Given the description of an element on the screen output the (x, y) to click on. 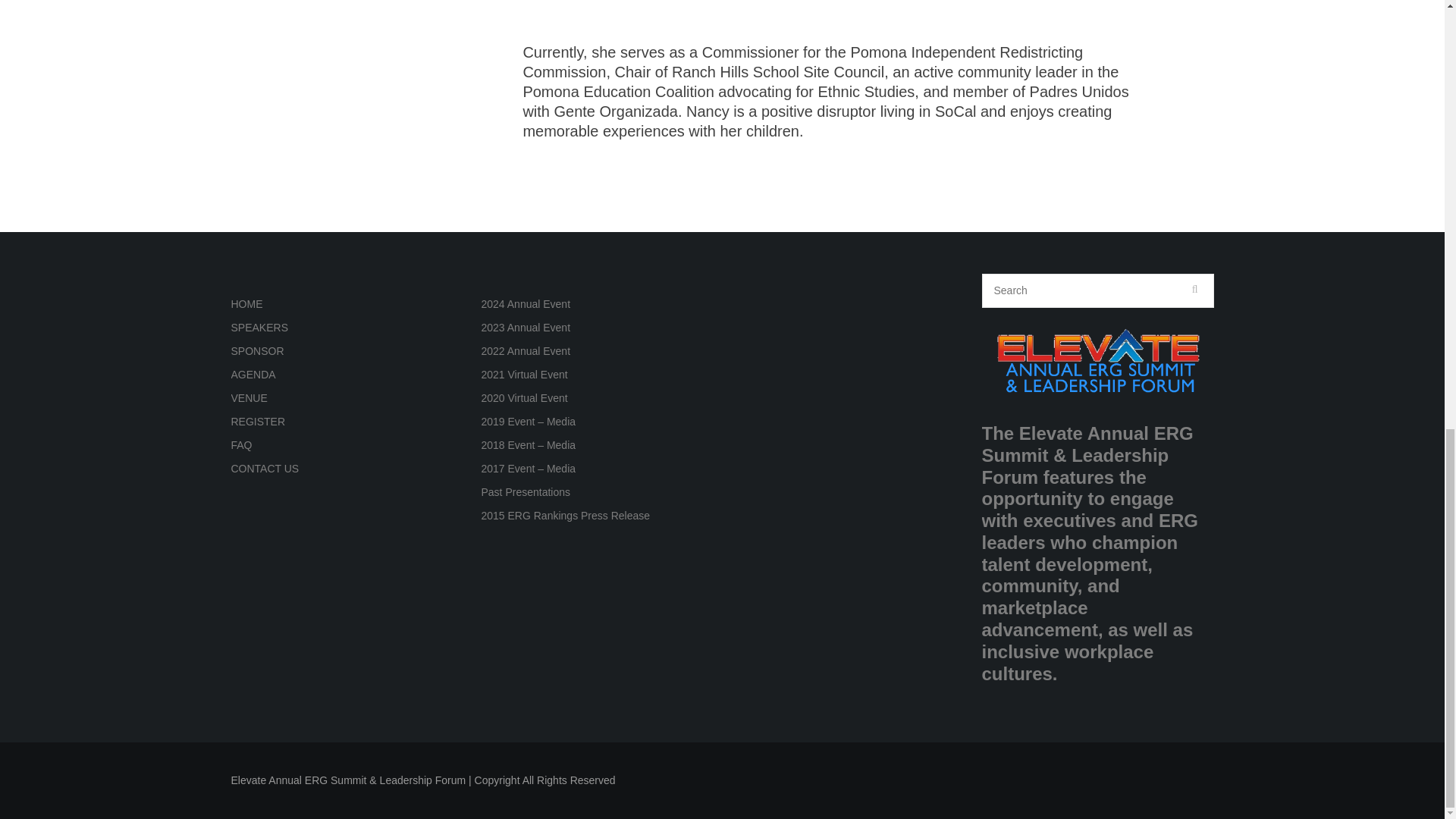
VENUE (248, 398)
2021 Virtual Event (523, 374)
SPONSOR (256, 350)
2024 Annual Event (525, 304)
2015 ERG Rankings Press Release (564, 515)
REGISTER (257, 421)
2022 Annual Event (525, 350)
SPEAKERS (258, 327)
Past Presentations (525, 491)
2023 Annual Event (525, 327)
